Given the description of an element on the screen output the (x, y) to click on. 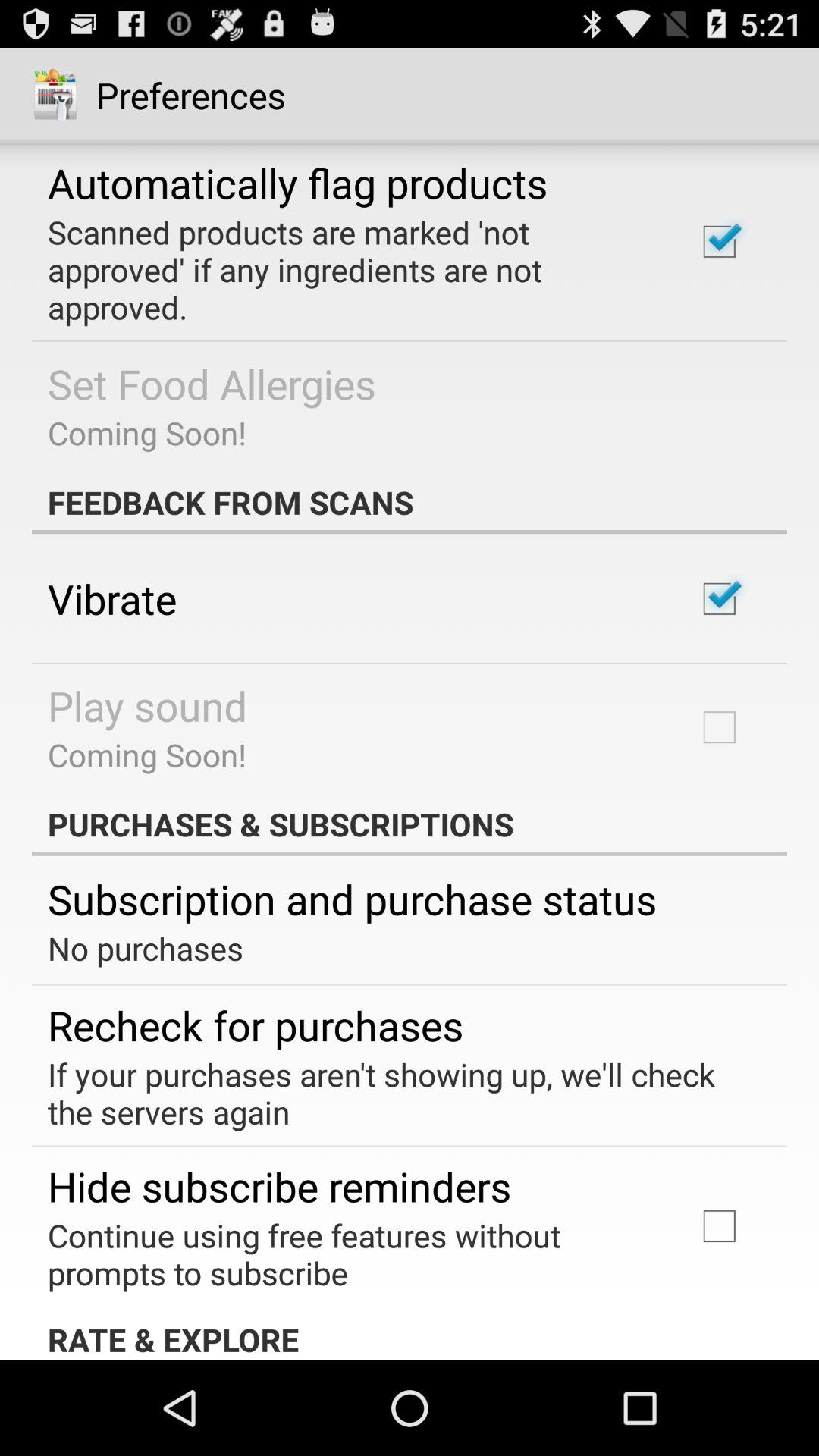
flip to the recheck for purchases item (255, 1024)
